Given the description of an element on the screen output the (x, y) to click on. 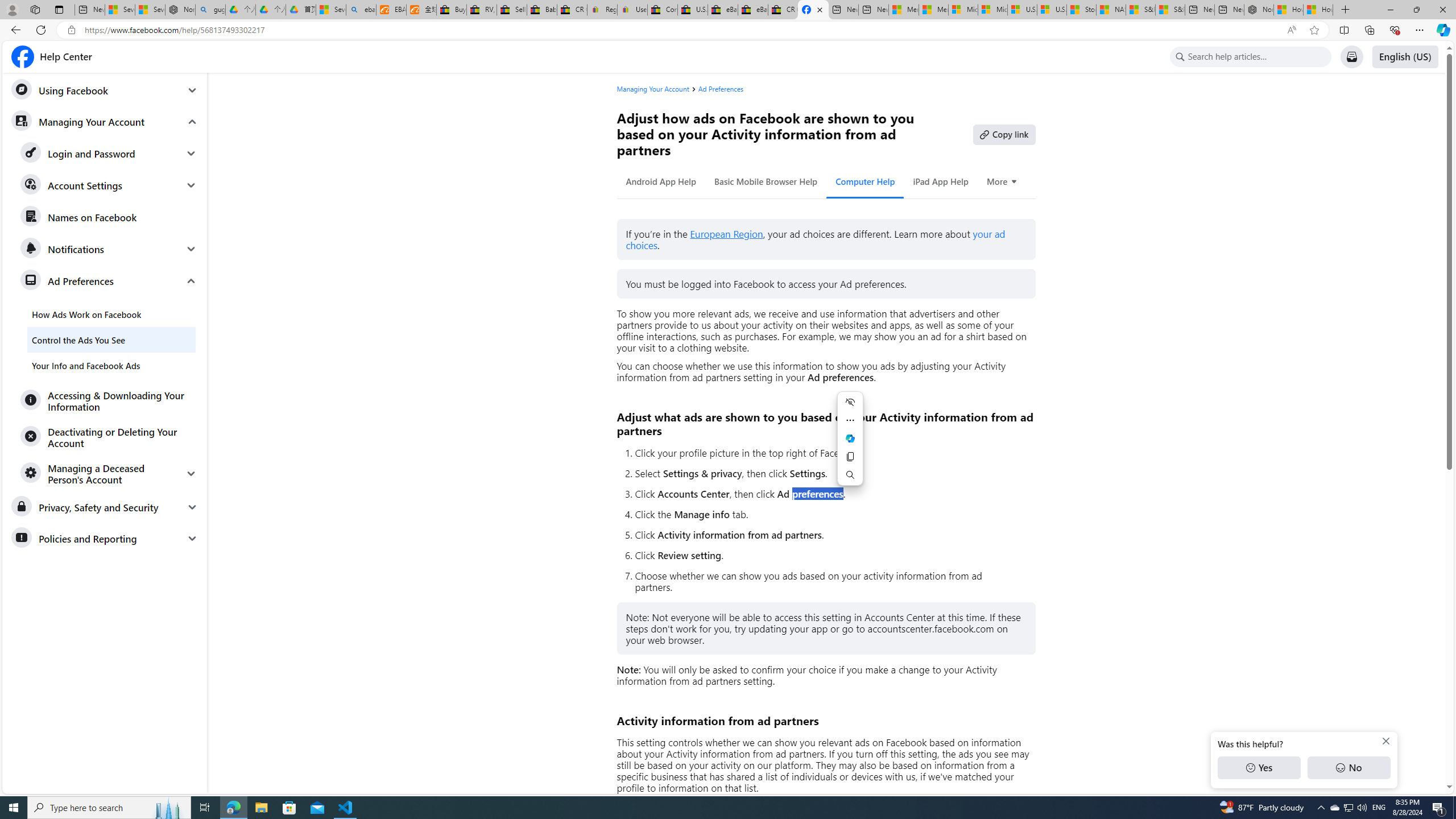
Ad Preferences (720, 89)
Click your profile picture in the top right of Facebook. (829, 452)
Mini menu on text selection (850, 437)
Privacy, Safety and Security (104, 506)
Mini menu on text selection (850, 445)
Class: x1lliihq x1tzjh5l x1k90msu x2h7rmj x1qfuztq x19dipnz (22, 56)
Expand (191, 473)
Dismiss (1385, 741)
Support Inbox (1350, 56)
Copy link (1003, 133)
How Ads Work on Facebook (111, 313)
